Given the description of an element on the screen output the (x, y) to click on. 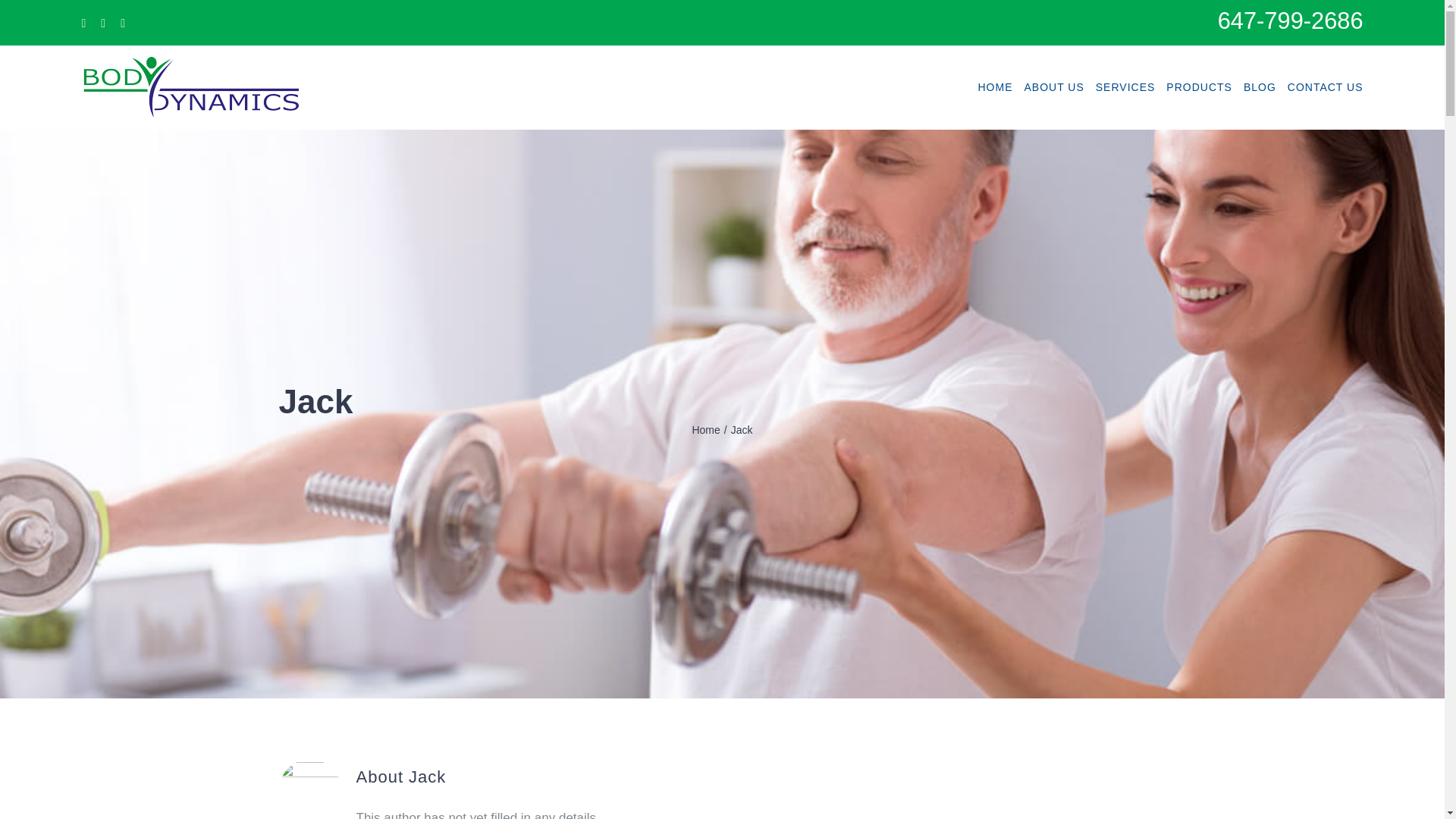
Pinterest (122, 23)
HOME (993, 86)
ABOUT US (1053, 86)
PRODUCTS (1198, 86)
647-799-2686 (1289, 20)
Facebook (83, 23)
Home (705, 429)
CONTACT US (1324, 86)
Facebook (83, 23)
Pinterest (122, 23)
BLOG (1259, 86)
Twitter (102, 23)
Twitter (102, 23)
SERVICES (1126, 86)
